Given the description of an element on the screen output the (x, y) to click on. 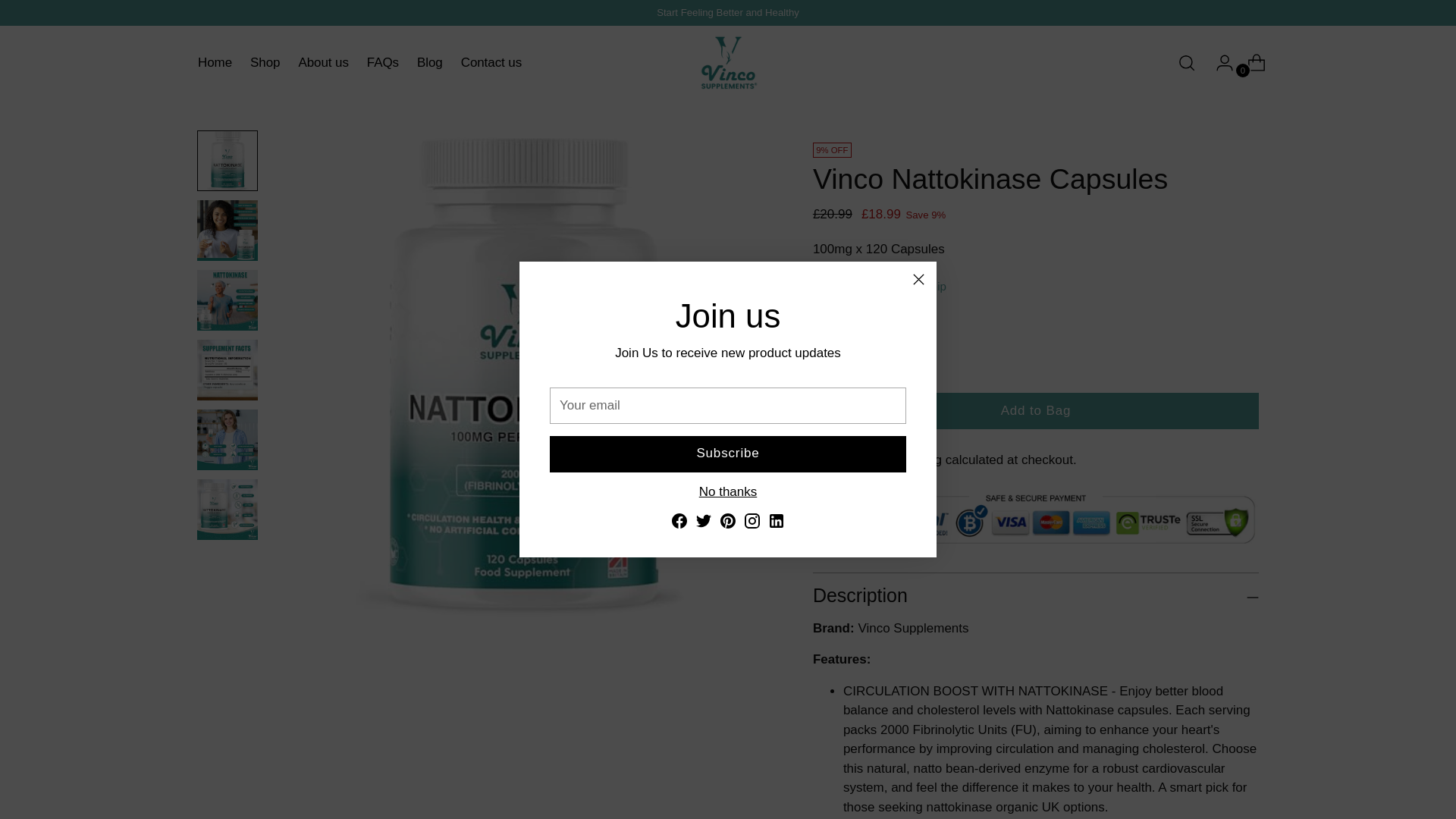
Home (359, 62)
FAQs (214, 62)
About us (382, 62)
1 (322, 62)
0 (849, 355)
Contact us (1249, 62)
